Given the description of an element on the screen output the (x, y) to click on. 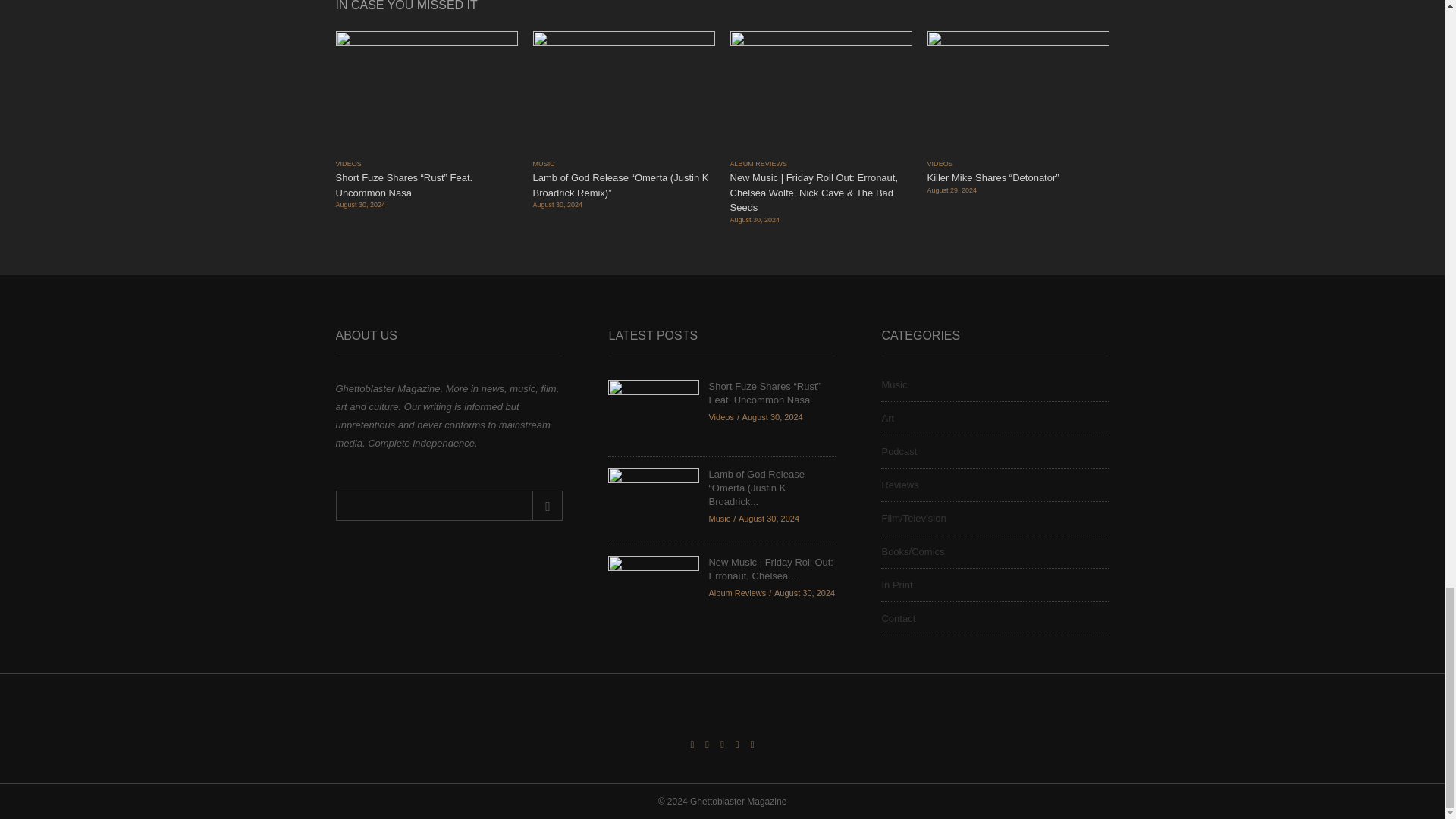
Short Fuze Shares "Rust" Feat. Uncommon Nasa (425, 93)
Email (448, 505)
Short Fuze Shares "Rust" Feat. Uncommon Nasa (653, 410)
Killer Mike Shares "Detonator" (1017, 93)
